Given the description of an element on the screen output the (x, y) to click on. 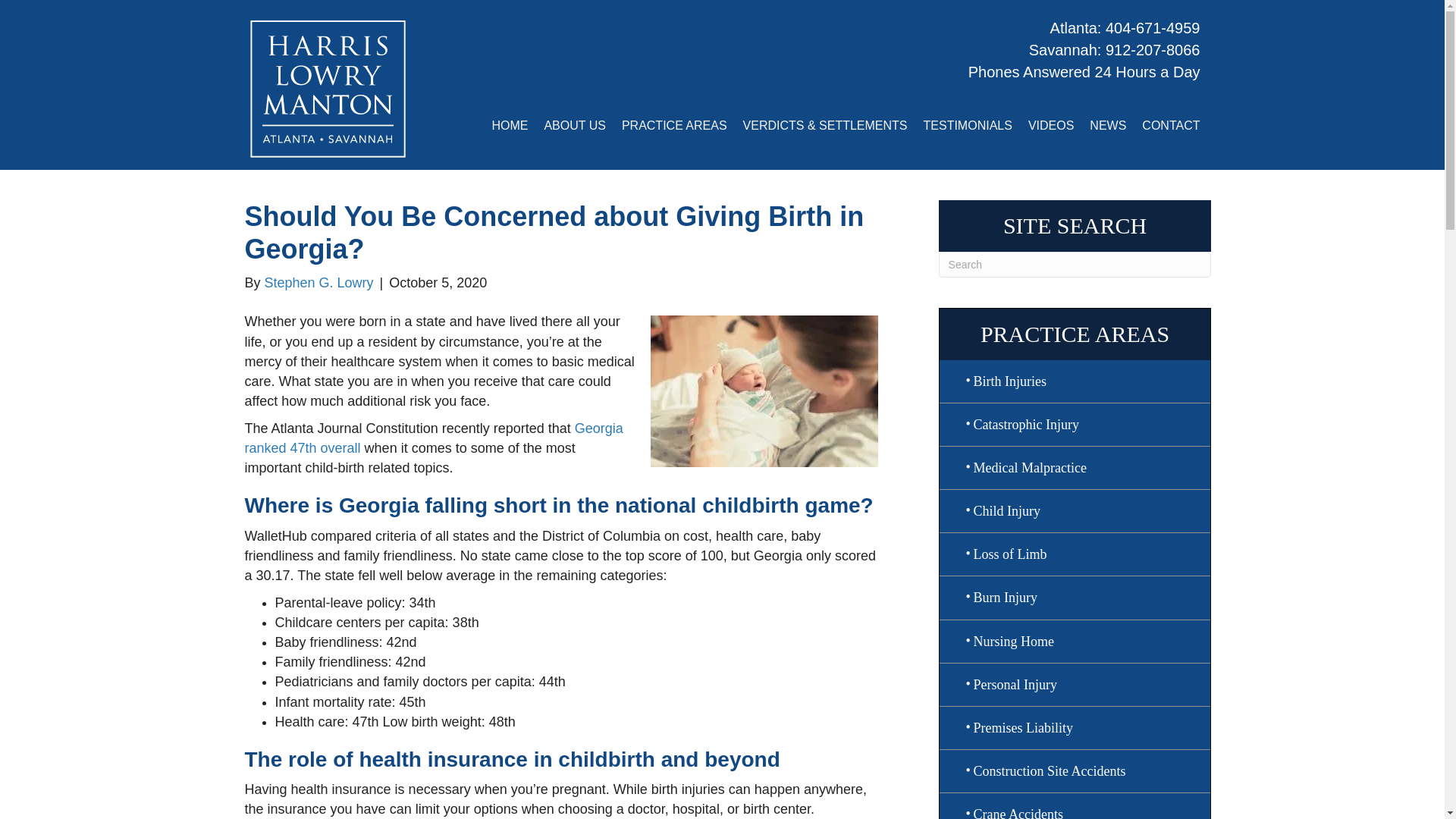
HOME (509, 125)
Type and press Enter to search. (1075, 264)
ABOUT US (573, 125)
PRACTICE AREAS (674, 125)
LOGO-Blue (327, 88)
912-207-8066 (1152, 49)
404-671-4959 (1152, 27)
